Given the description of an element on the screen output the (x, y) to click on. 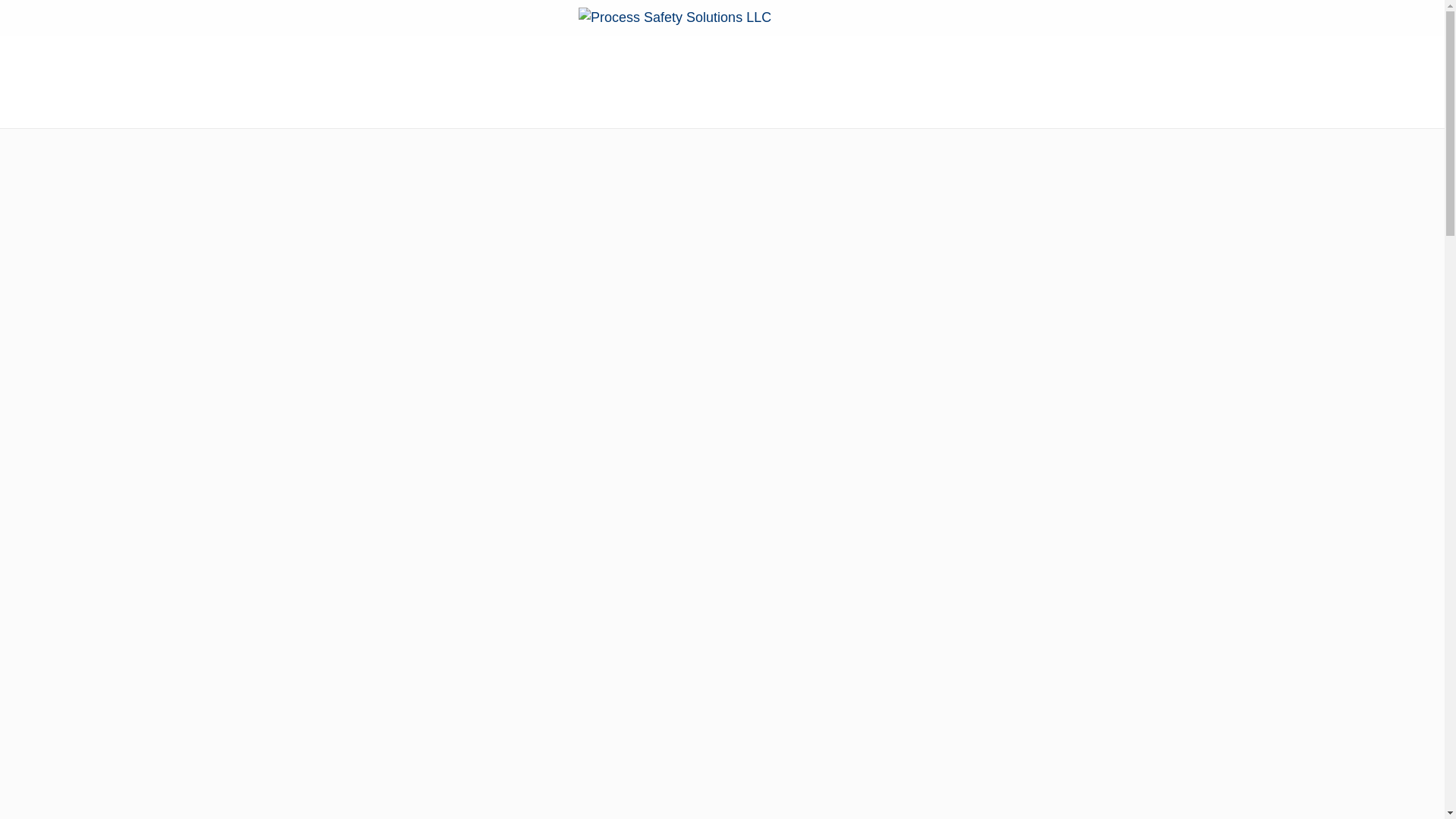
Process Safety Solutions LLC (722, 17)
